Given the description of an element on the screen output the (x, y) to click on. 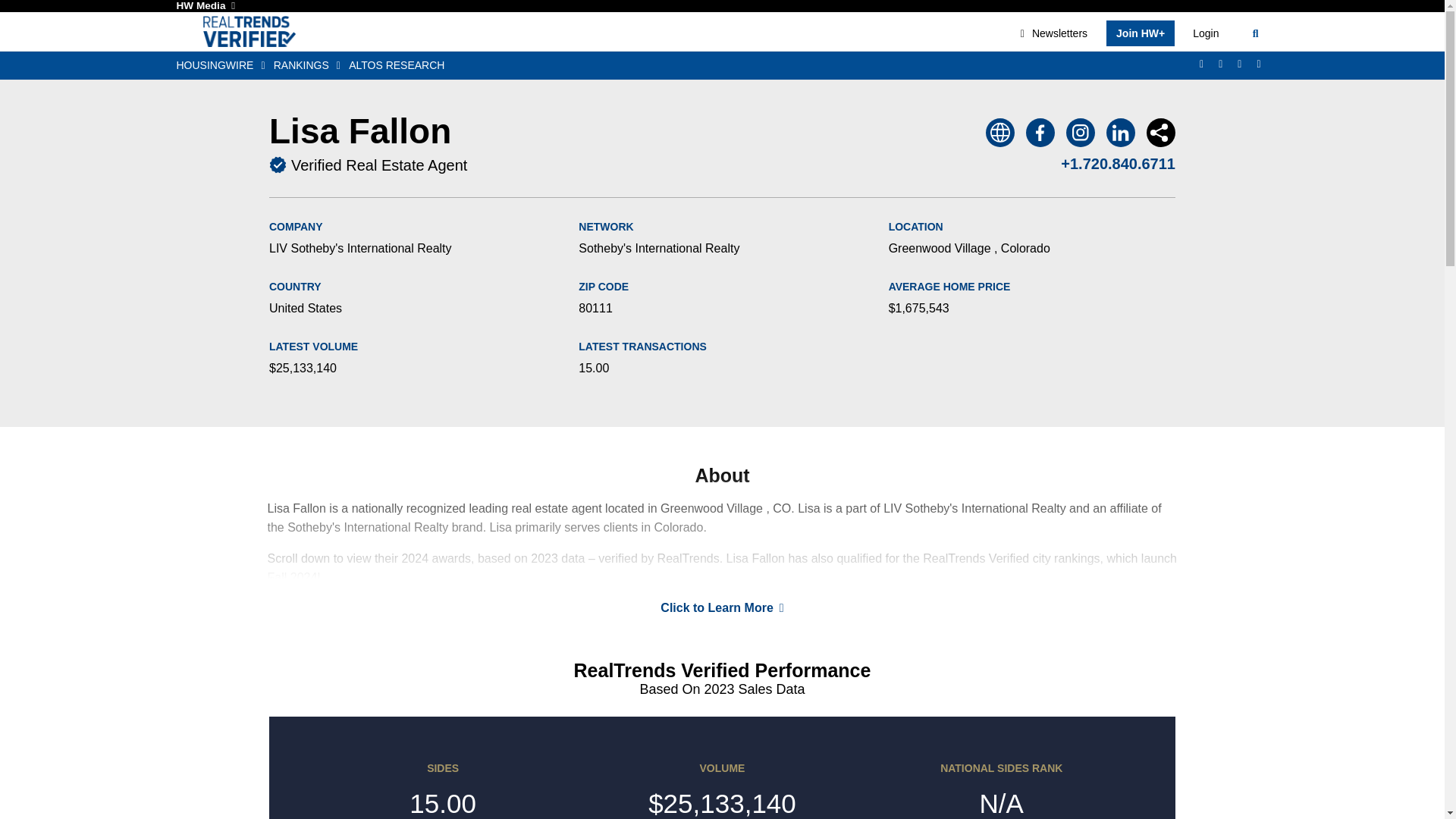
open search bar (1255, 33)
Newsletters (1053, 33)
Login (1205, 33)
HOUSINGWIRE (224, 65)
